Given the description of an element on the screen output the (x, y) to click on. 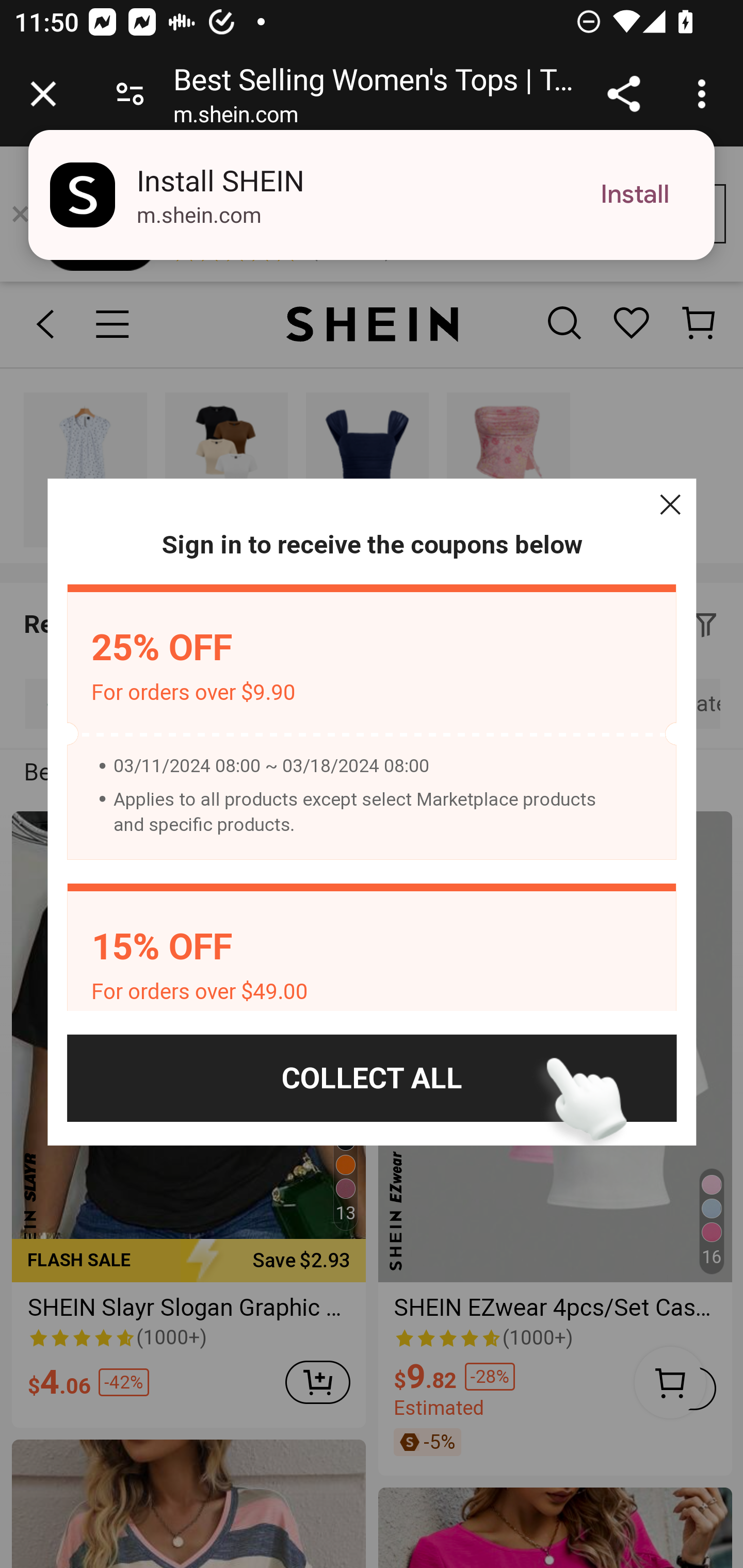
Close tab (43, 93)
Share link address (623, 93)
Customize and control Google Chrome (705, 93)
Connection is secure (129, 93)
m.shein.com (235, 117)
Install (634, 195)
Close (669, 503)
COLLECT ALL (371, 1077)
